Given the description of an element on the screen output the (x, y) to click on. 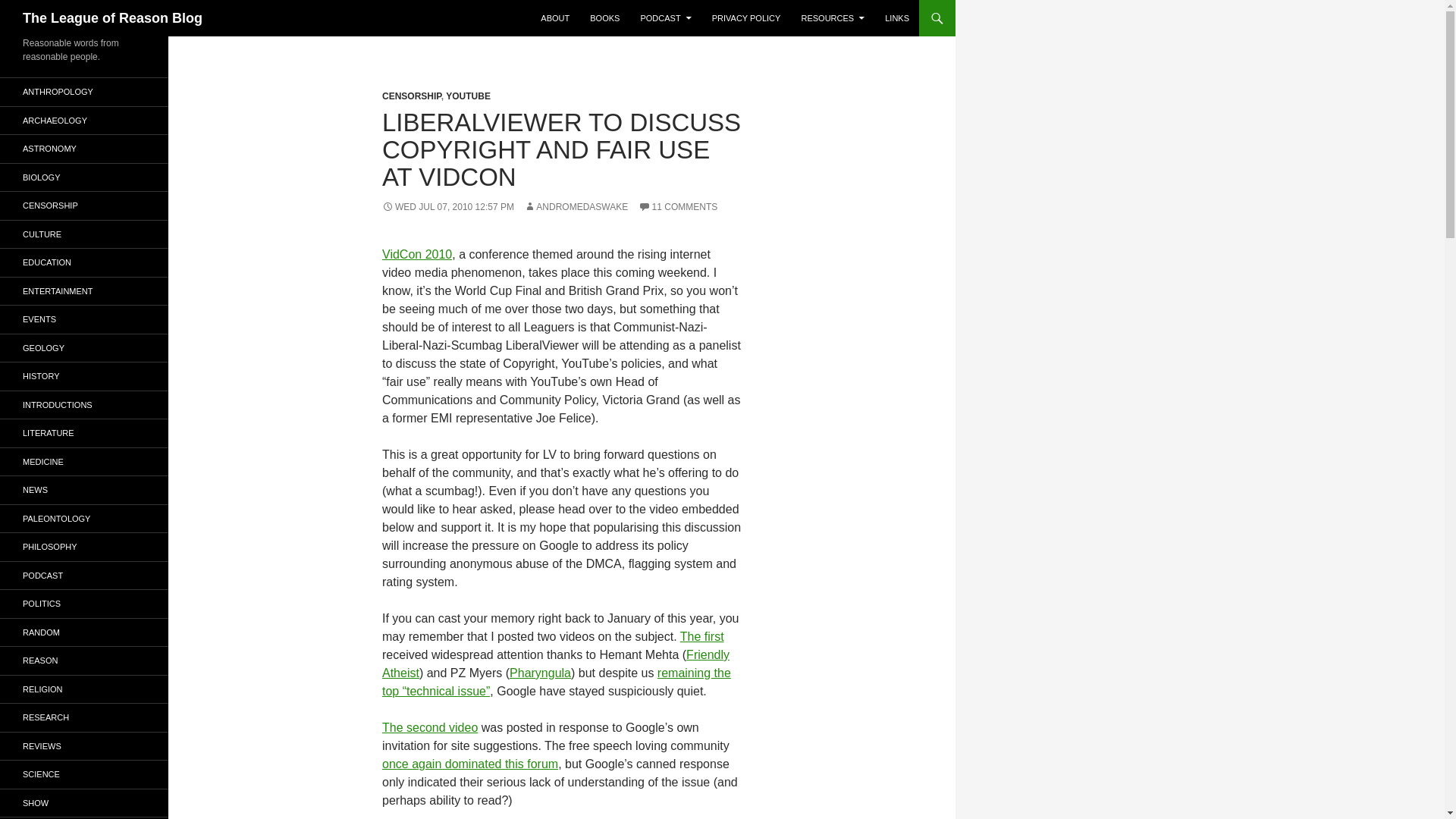
CENSORSHIP (411, 95)
The first (701, 635)
Pharyngula (539, 672)
Friendly Atheist (555, 663)
11 COMMENTS (678, 206)
The League of Reason Blog (112, 18)
ABOUT (554, 18)
YOUTUBE (467, 95)
VidCon 2010 (416, 254)
WED JUL 07, 2010 12:57 PM (447, 206)
The second video (429, 727)
PODCAST (665, 18)
LINKS (897, 18)
